Given the description of an element on the screen output the (x, y) to click on. 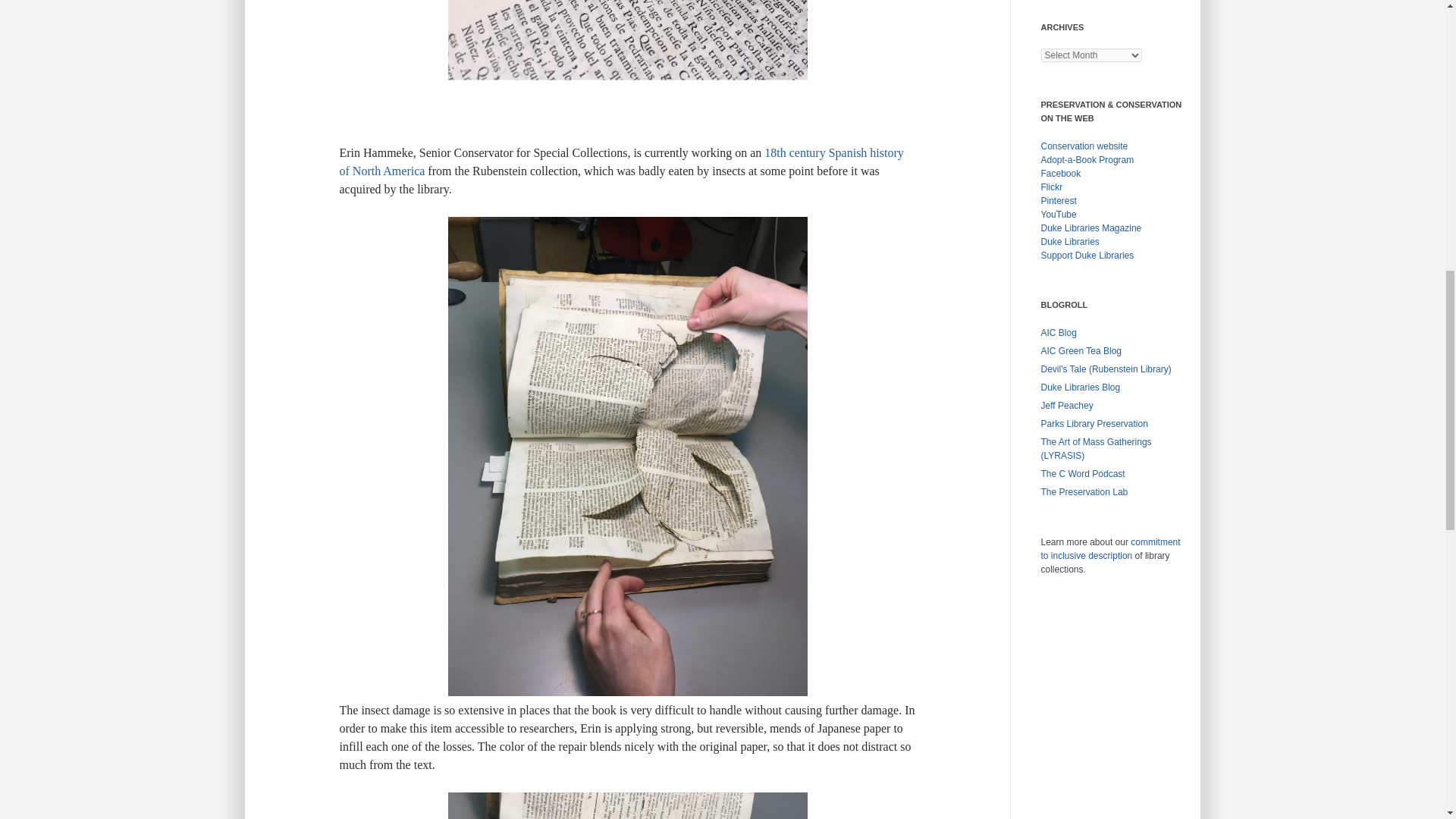
Pinterest (1058, 200)
The blog of the Duke University Rubenstein Library (1105, 368)
The blog of the American Institute for Conservation (1058, 332)
Flickr (1051, 186)
Conservation website (1083, 145)
YouTube (1058, 214)
Iowa State University Preservation Department (1094, 423)
Duke Libraries Magazine (1091, 227)
18th century Spanish history of North America (621, 161)
